Given the description of an element on the screen output the (x, y) to click on. 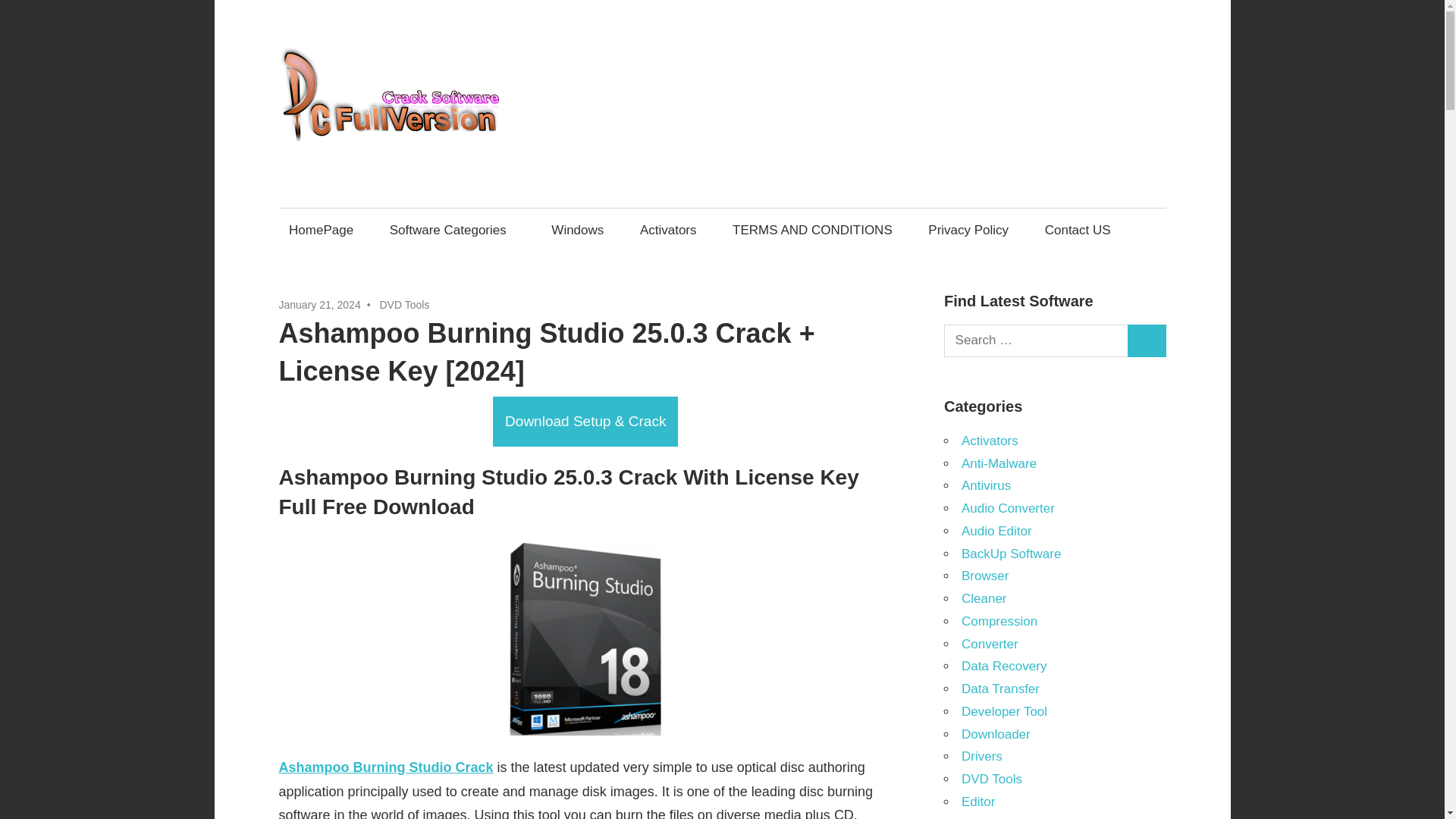
DVD Tools (403, 304)
Activators (667, 230)
Windows (577, 230)
January 21, 2024 (320, 304)
1:04 am (320, 304)
HomePage (321, 230)
Privacy Policy (968, 230)
TERMS AND CONDITIONS (812, 230)
Ashampoo Burning Studio Crack (386, 767)
Software Categories (451, 230)
